Given the description of an element on the screen output the (x, y) to click on. 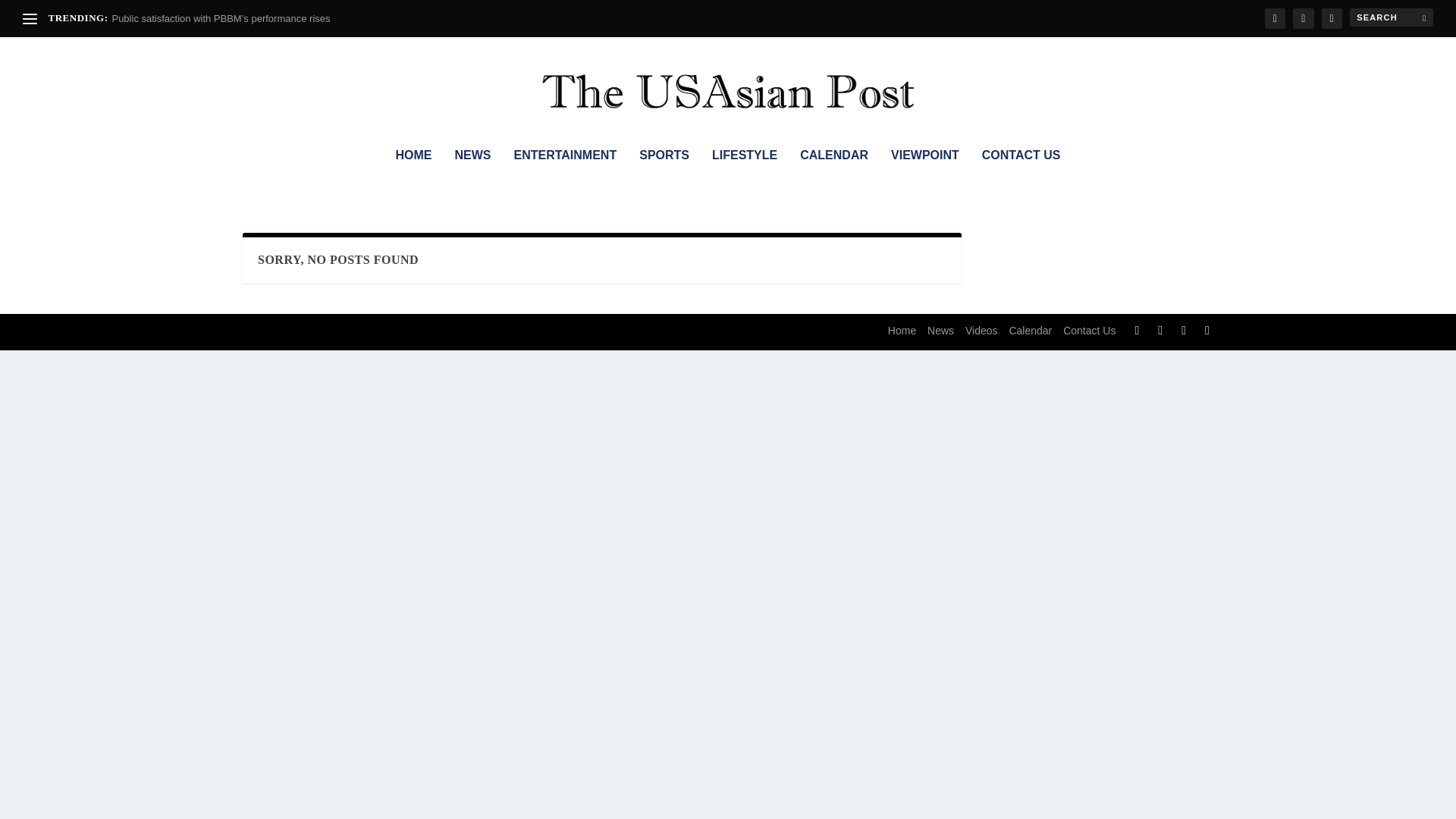
Search for: (1390, 17)
Premium WordPress Themes (333, 332)
